Given the description of an element on the screen output the (x, y) to click on. 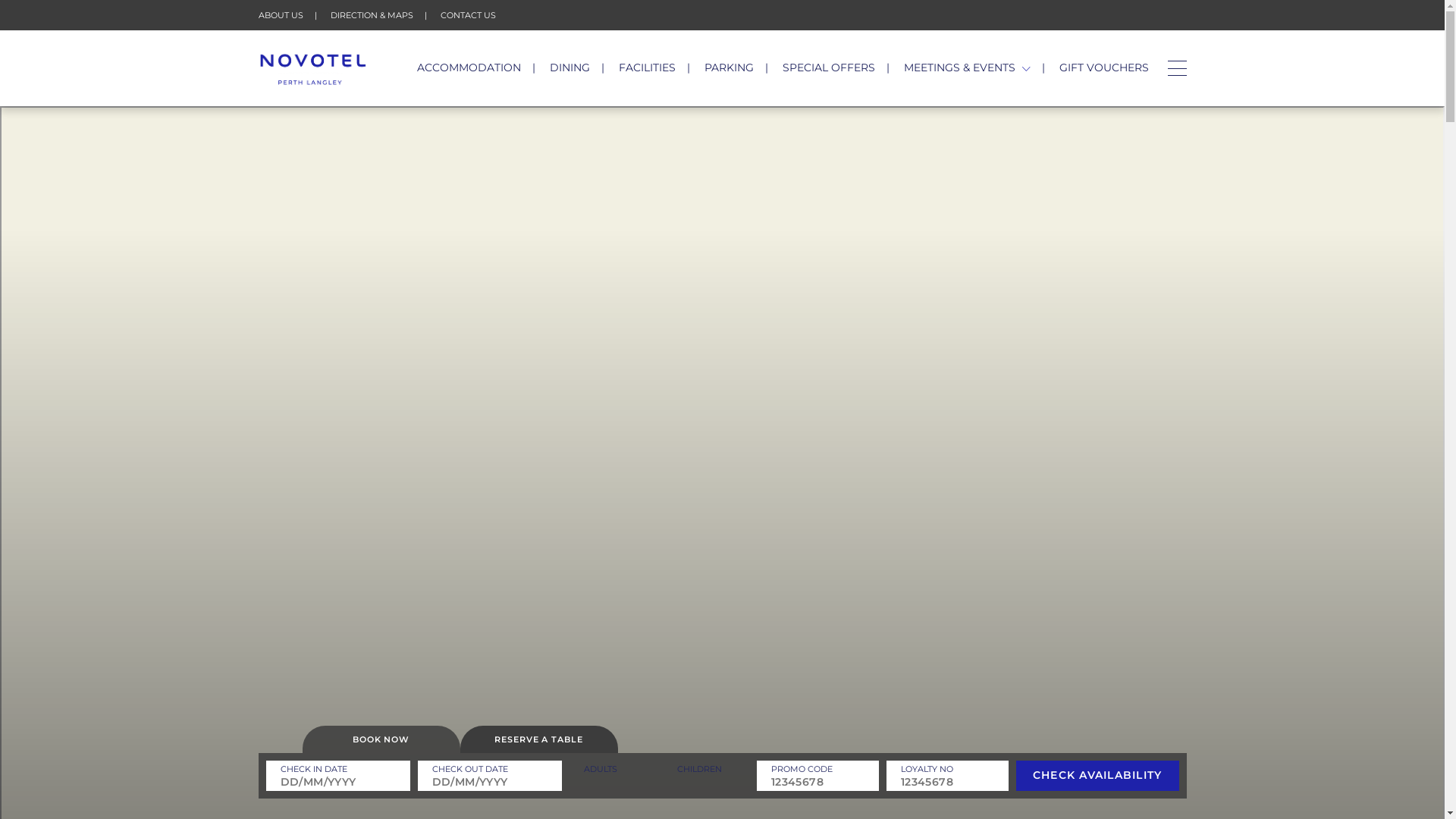
MEETINGS & EVENTS Element type: text (966, 67)
DINING Element type: text (569, 67)
SPECIAL OFFERS Element type: text (828, 67)
CHECK AVAILABILITY Element type: text (1097, 775)
BOOK NOW Element type: text (380, 739)
ABOUT US Element type: text (279, 14)
PARKING Element type: text (728, 67)
CONTACT US Element type: text (467, 14)
GIFT VOUCHERS
OPENS IN A NEW TAB. Element type: text (1103, 67)
RESERVE A TABLE Element type: text (538, 739)
ACCOMMODATION Element type: text (468, 67)
FACILITIES Element type: text (646, 67)
DIRECTION & MAPS Element type: text (371, 14)
